Given the description of an element on the screen output the (x, y) to click on. 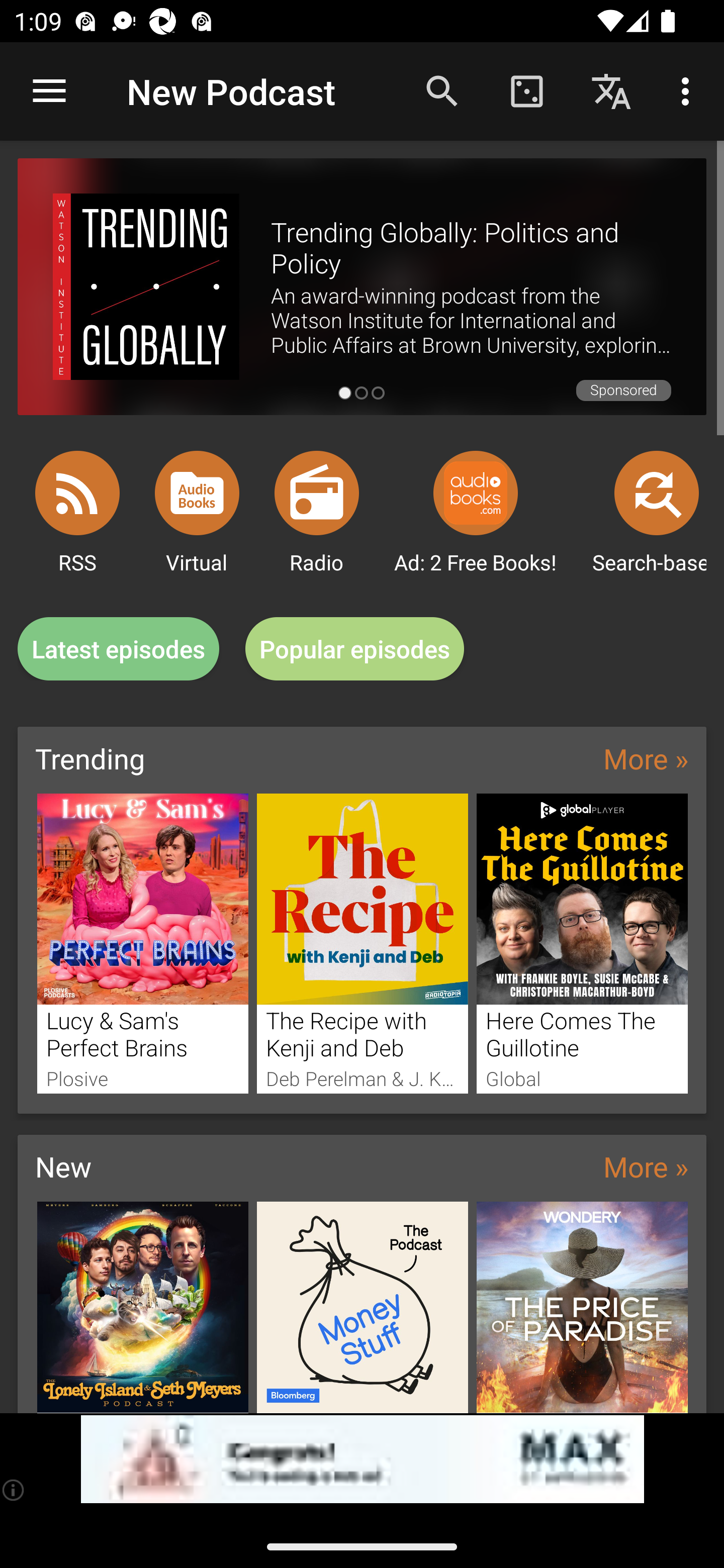
Open navigation sidebar (49, 91)
Search (442, 90)
Random pick (526, 90)
Podcast languages (611, 90)
More options (688, 90)
RSS (77, 492)
Virtual (196, 492)
Radio (316, 492)
Search-based (656, 492)
Latest episodes (118, 648)
Popular episodes (354, 648)
More » (645, 757)
Lucy & Sam's Perfect Brains Plosive (142, 942)
Here Comes The Guillotine Global (581, 942)
More » (645, 1166)
The Lonely Island and Seth Meyers Podcast (142, 1306)
Money Stuff: The Podcast (362, 1306)
The Price of Paradise (581, 1306)
app-monetization (362, 1459)
(i) (14, 1489)
